Given the description of an element on the screen output the (x, y) to click on. 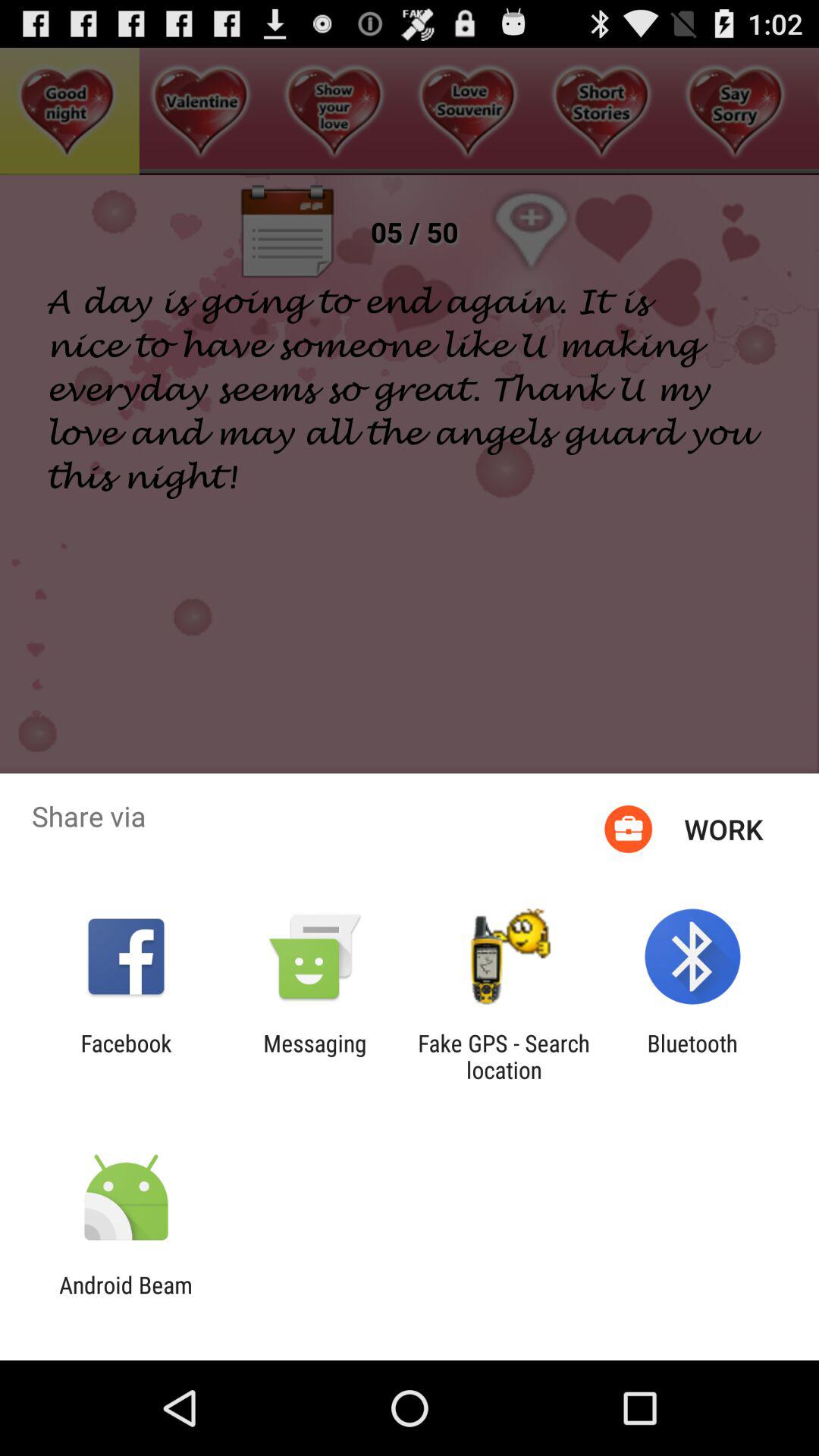
click the icon next to the messaging icon (503, 1056)
